Given the description of an element on the screen output the (x, y) to click on. 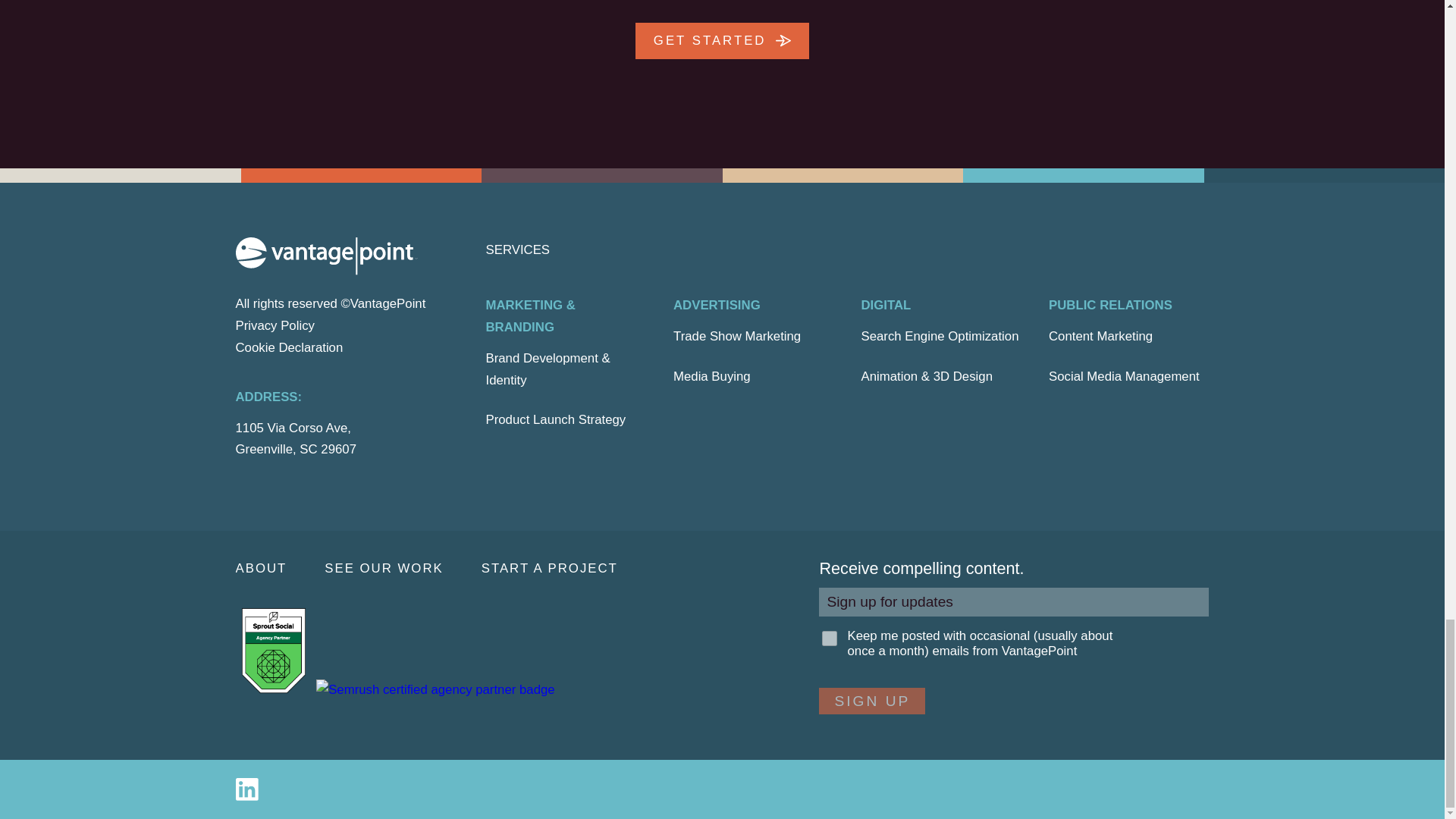
1 (829, 638)
GET STARTED (721, 40)
Privacy Policy (274, 325)
ABOUT (279, 568)
Content Marketing (1100, 336)
Product Launch Strategy (555, 420)
SIGN UP (871, 700)
Cookie Declaration (288, 347)
Search Engine Optimization (940, 336)
Social Media Management (1123, 377)
SERVICES (517, 249)
SEE OUR WORK (402, 568)
START A PROJECT (568, 568)
Media Buying (711, 377)
Trade Show Marketing (736, 336)
